Given the description of an element on the screen output the (x, y) to click on. 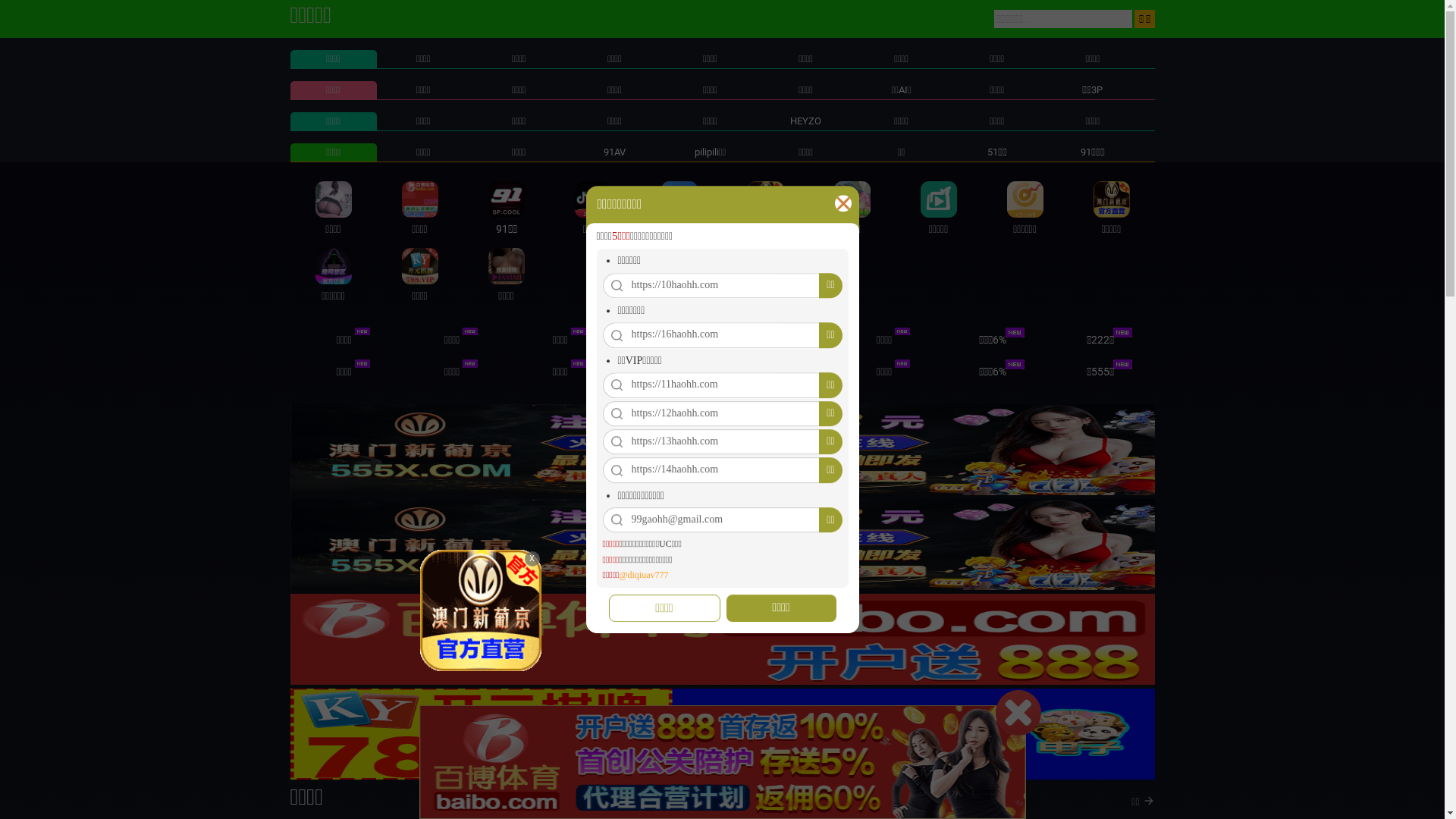
91AV Element type: text (614, 151)
HEYZO Element type: text (805, 120)
@diqiuav777 Element type: text (643, 574)
